Given the description of an element on the screen output the (x, y) to click on. 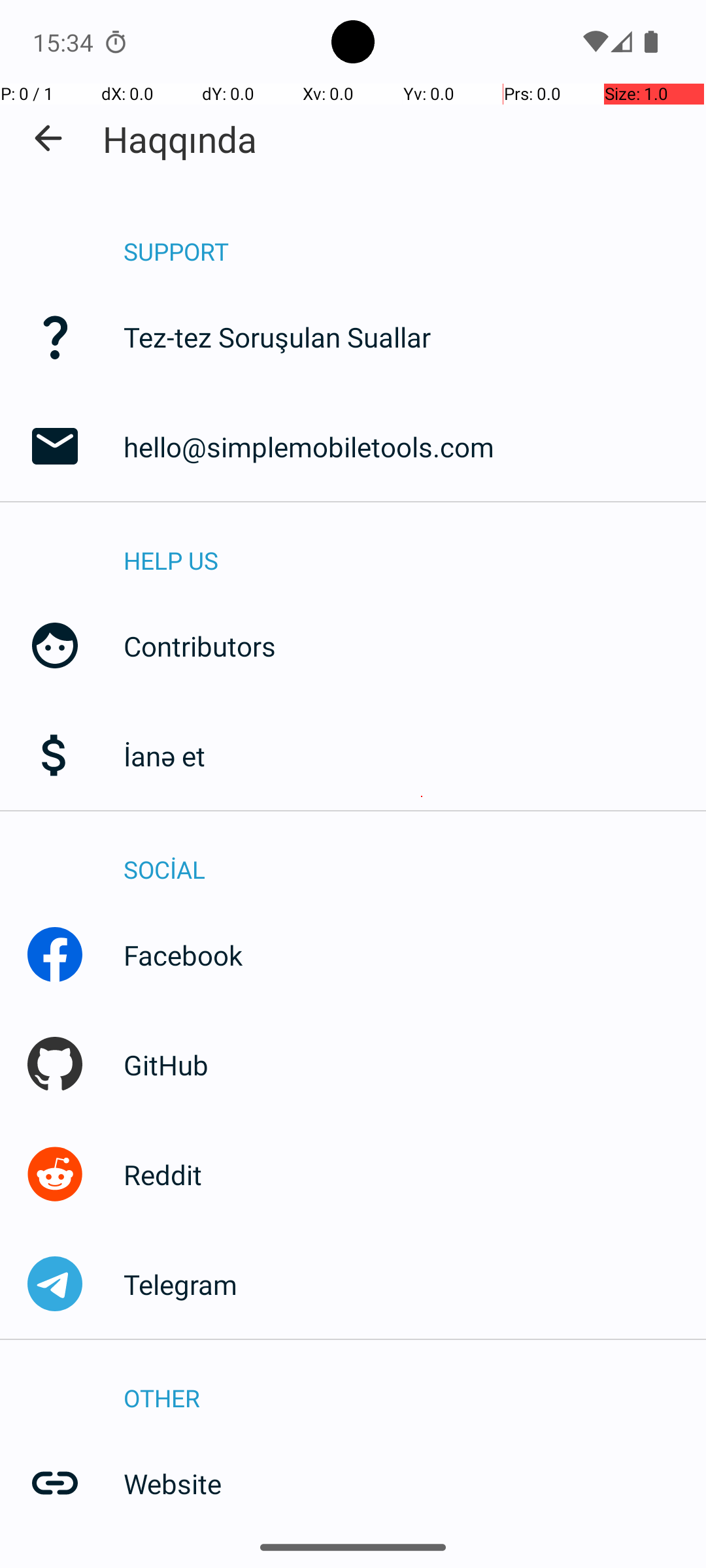
Haqqında Element type: android.widget.TextView (179, 138)
SOCİAL Element type: android.widget.TextView (414, 855)
Tez-tez Soruşulan Suallar Element type: android.widget.TextView (414, 336)
İanə et Element type: android.widget.TextView (414, 755)
Website Element type: android.widget.TextView (414, 1483)
